Given the description of an element on the screen output the (x, y) to click on. 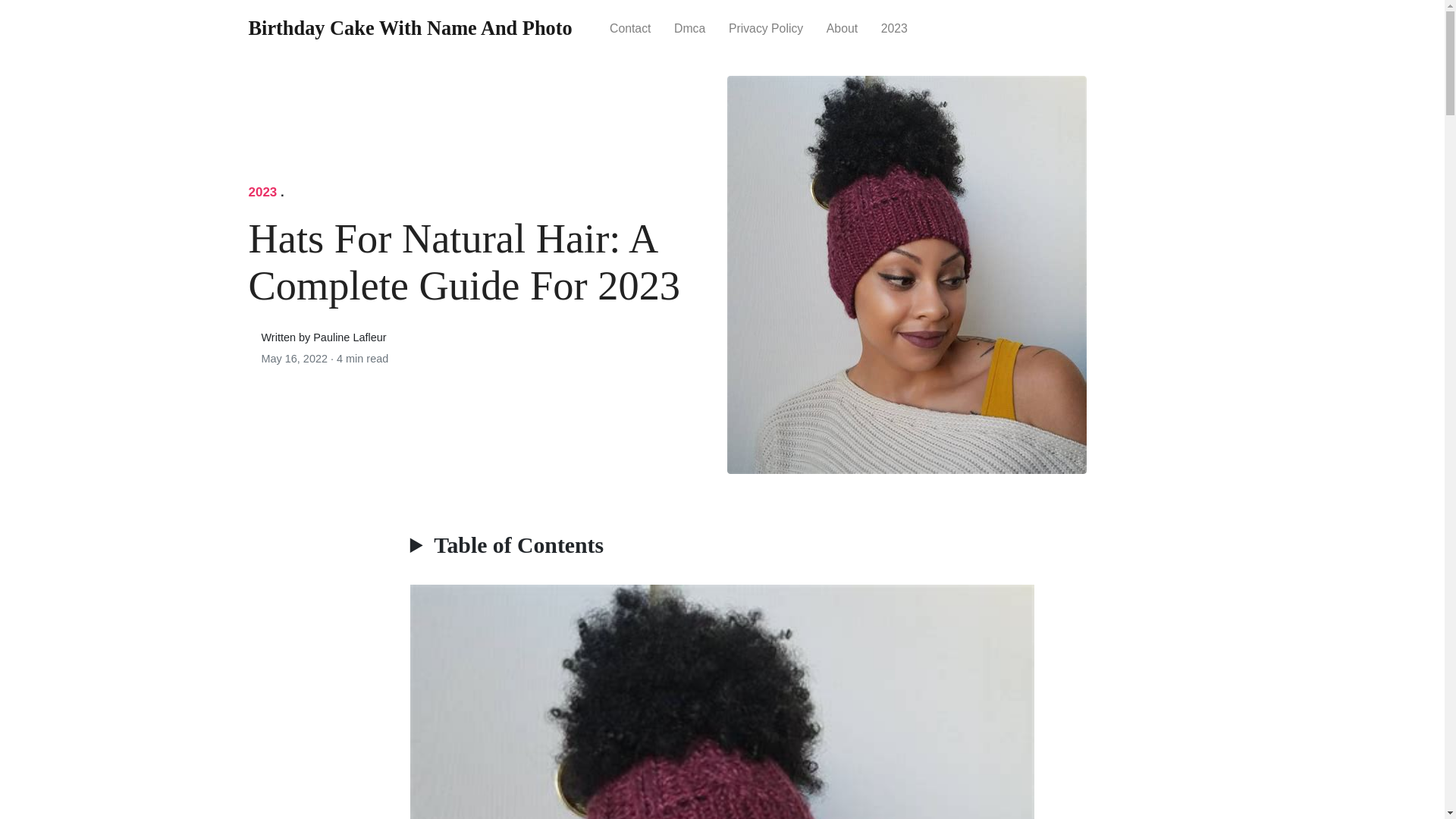
About (842, 27)
Birthday Cake With Name And Photo (410, 28)
2023 (263, 192)
2023 (893, 27)
Contact (630, 27)
Privacy Policy (766, 27)
2023 (263, 192)
Dmca (689, 27)
2023 (893, 27)
